Given the description of an element on the screen output the (x, y) to click on. 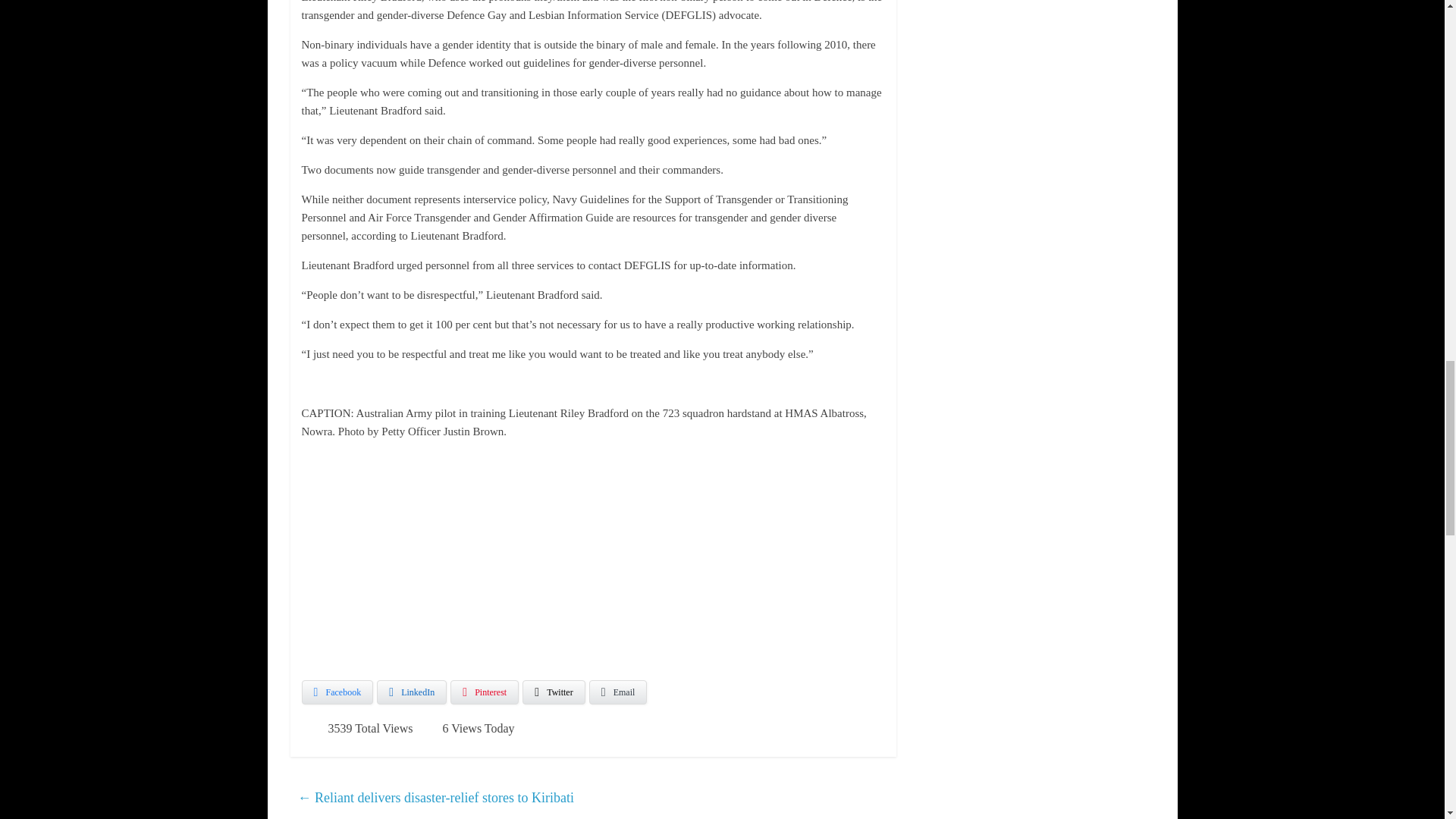
Twitter (553, 692)
Pinterest (483, 692)
Facebook (337, 692)
LinkedIn (411, 692)
